Given the description of an element on the screen output the (x, y) to click on. 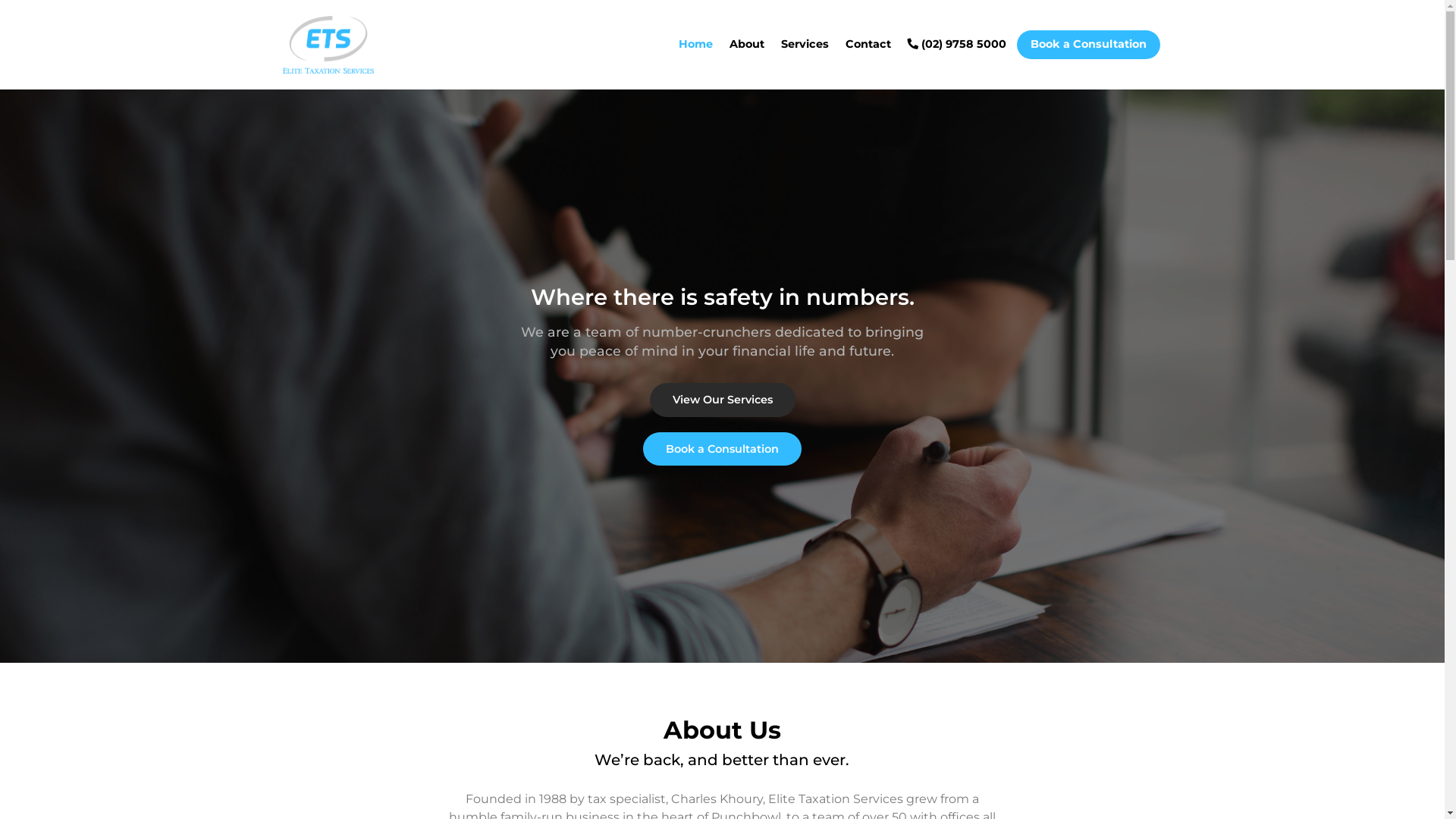
Services Element type: text (804, 44)
Contact Element type: text (867, 44)
Book a Consultation Element type: text (1087, 44)
Book a Consultation Element type: text (722, 448)
Home Element type: text (694, 44)
(02) 9758 5000 Element type: text (955, 44)
View Our Services Element type: text (721, 399)
About Element type: text (746, 44)
